Given the description of an element on the screen output the (x, y) to click on. 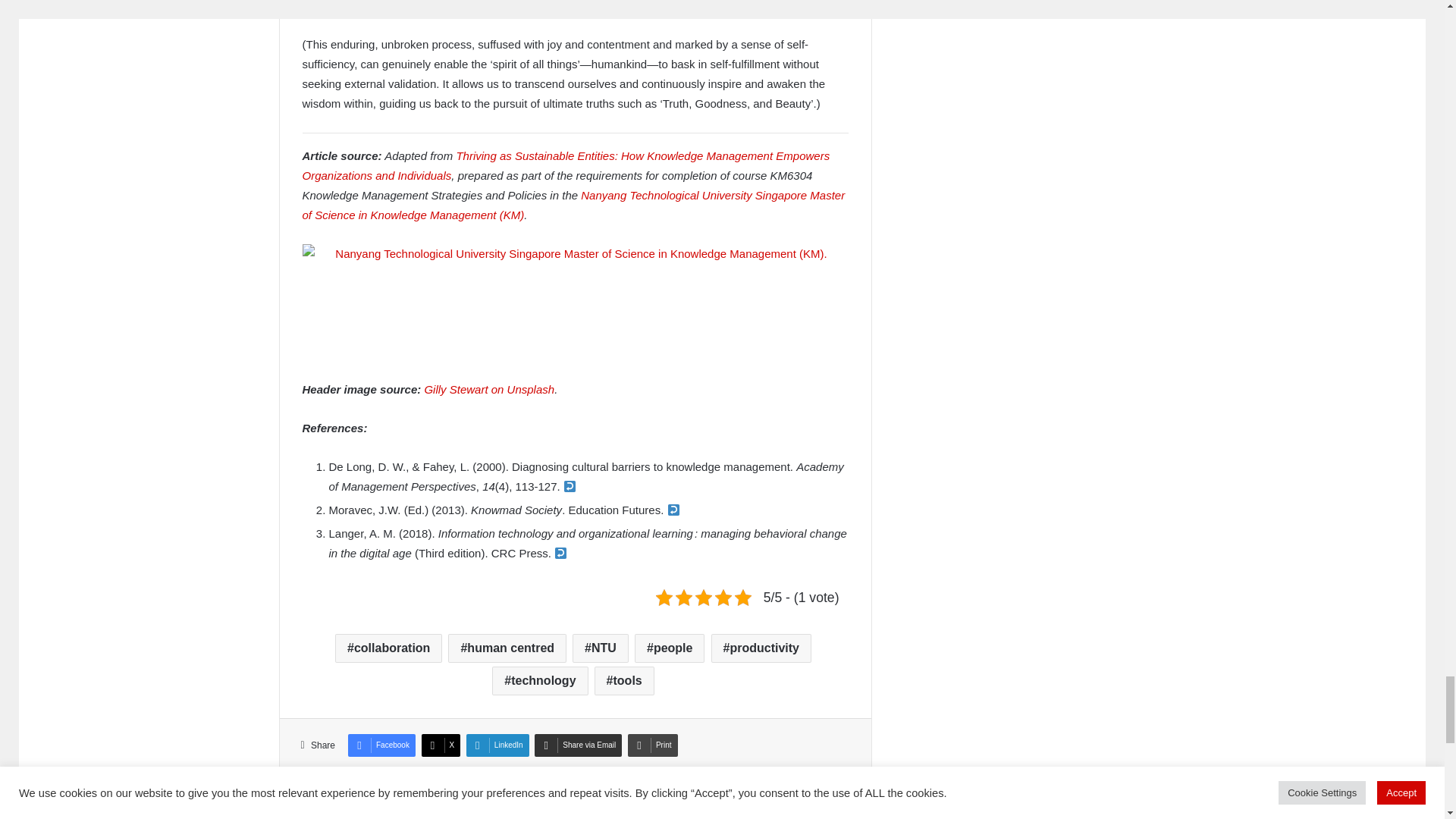
Share via Email (577, 744)
X (441, 744)
Facebook (380, 744)
Print (652, 744)
LinkedIn (497, 744)
